Given the description of an element on the screen output the (x, y) to click on. 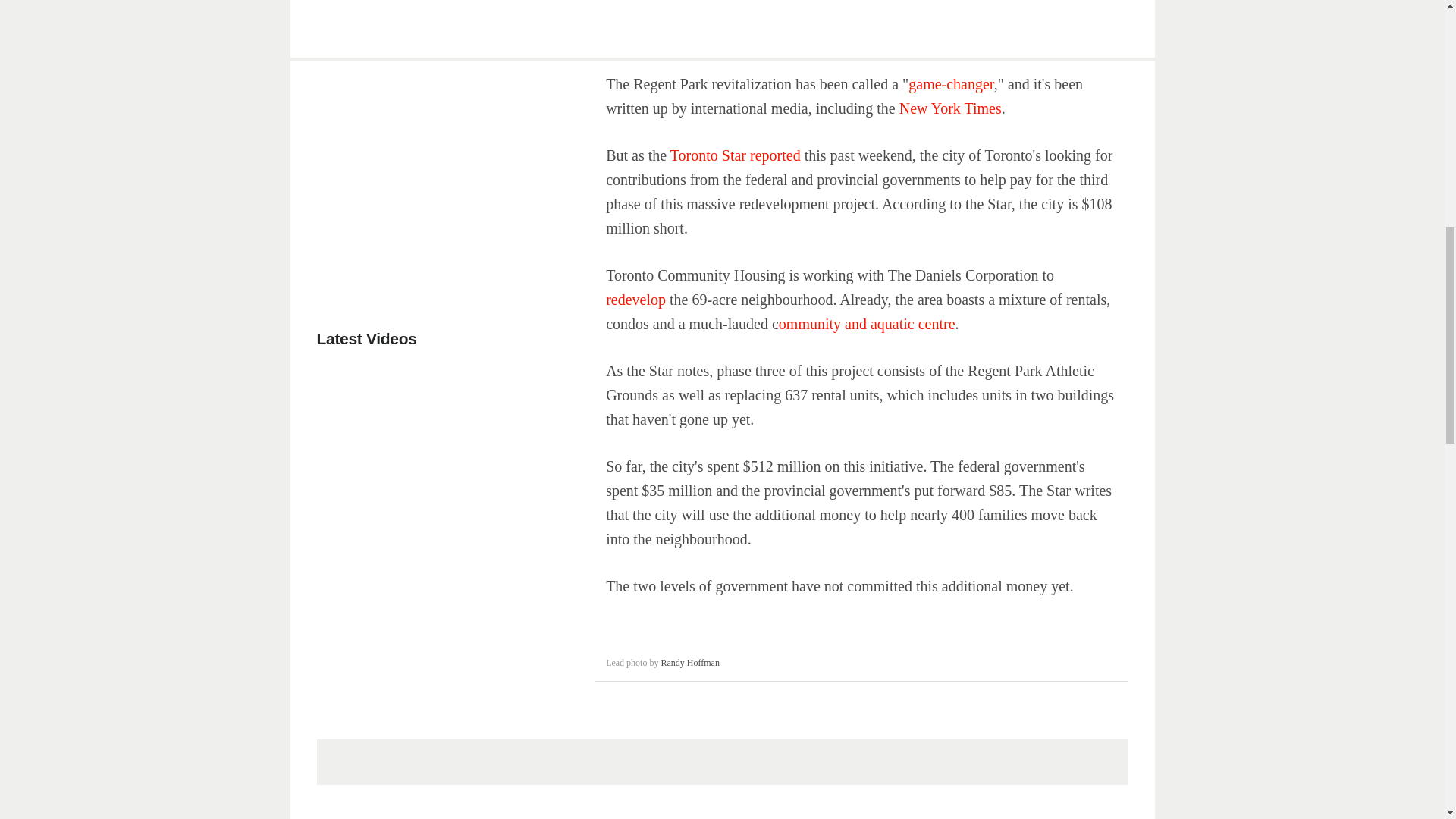
game-changer (950, 84)
New York Times (950, 108)
Randy Hoffman (690, 662)
redevelop (635, 299)
Toronto Star reported (734, 155)
ommunity and aquatic centre (866, 323)
